Given the description of an element on the screen output the (x, y) to click on. 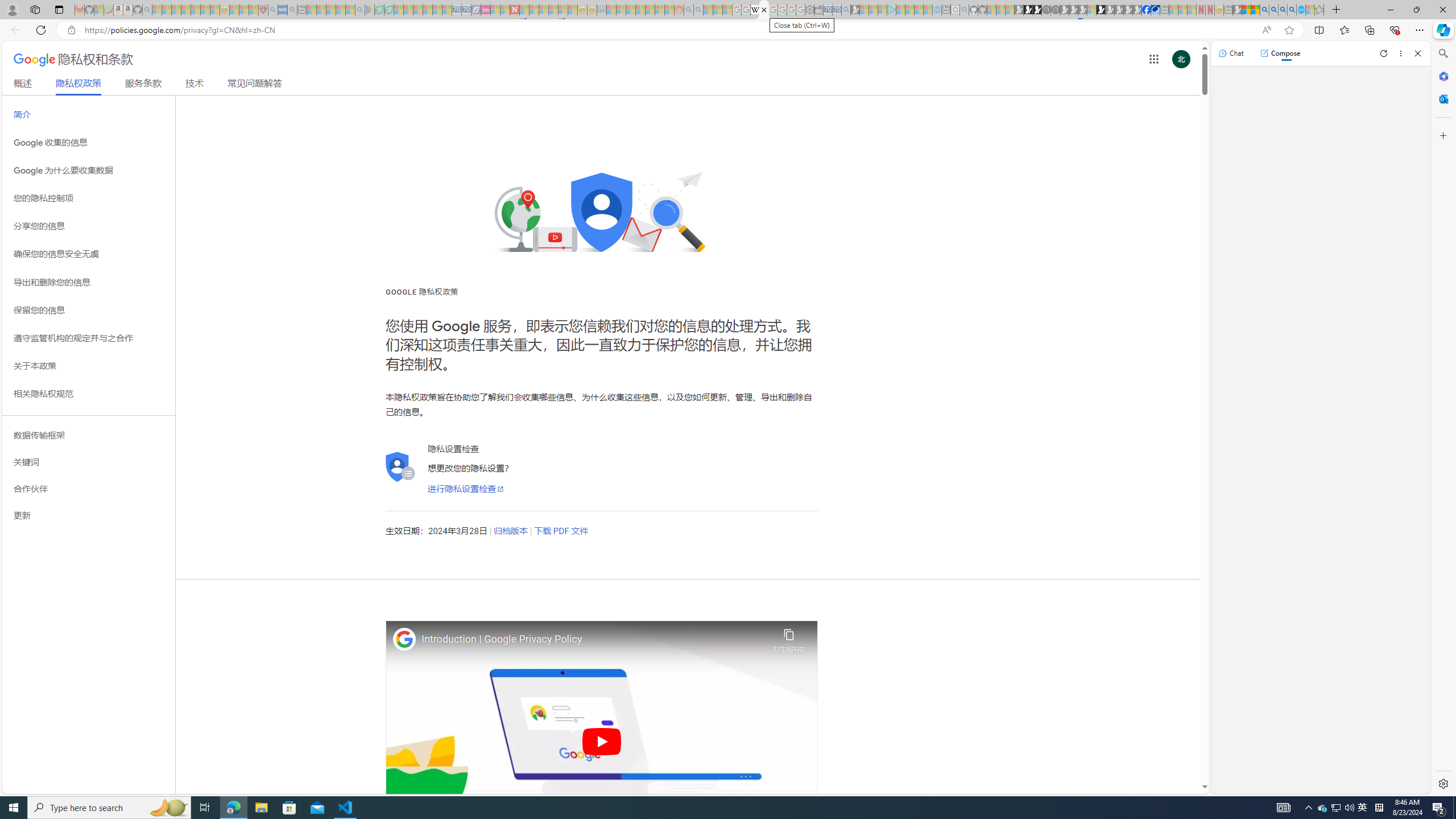
Google Chrome Internet Browser Download - Search Images (1291, 9)
New Report Confirms 2023 Was Record Hot | Watch - Sleeping (195, 9)
